Given the description of an element on the screen output the (x, y) to click on. 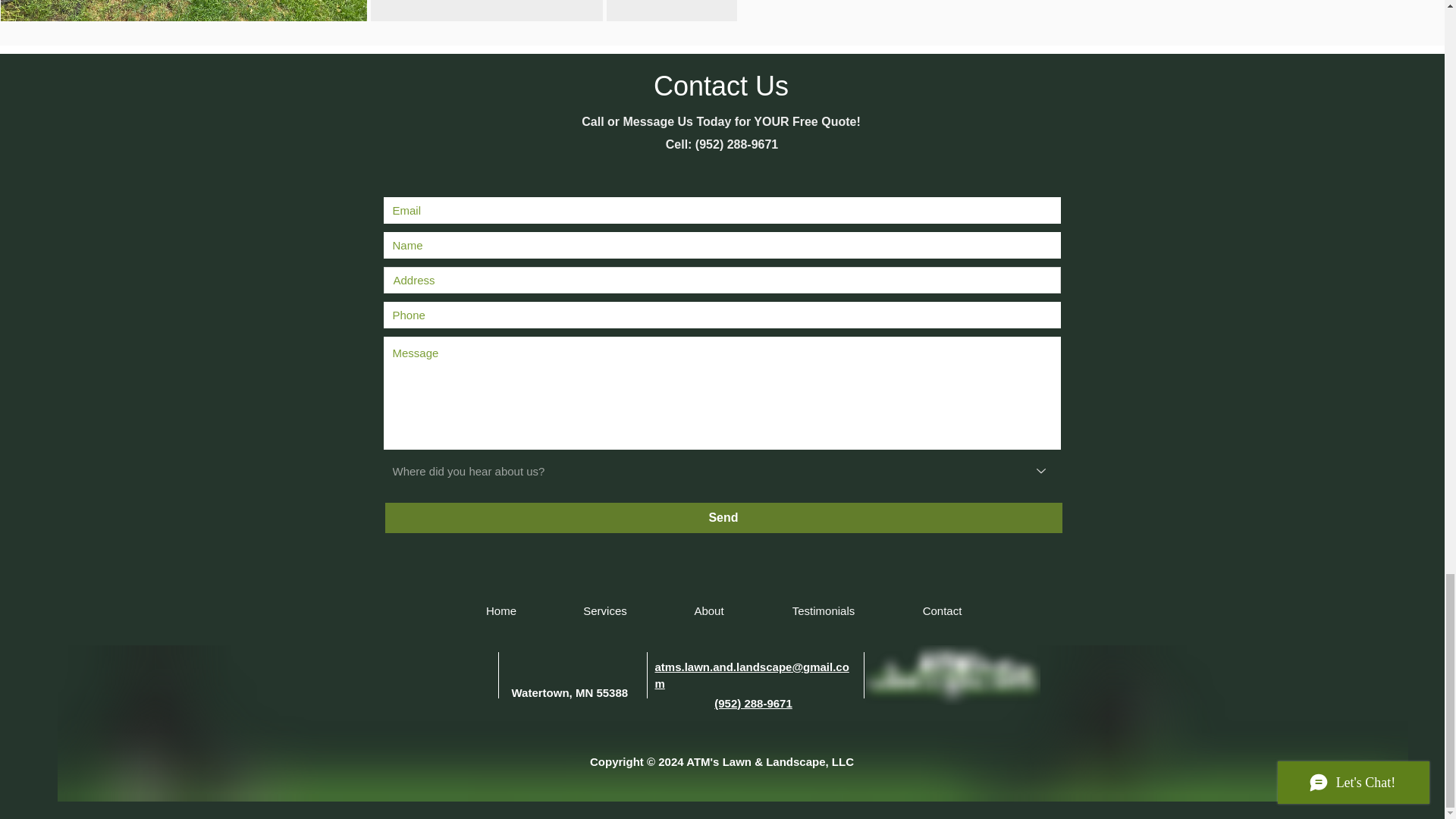
Home (501, 610)
Testimonials (823, 610)
Contact (941, 610)
Send (723, 517)
Services (604, 610)
About (708, 610)
